Given the description of an element on the screen output the (x, y) to click on. 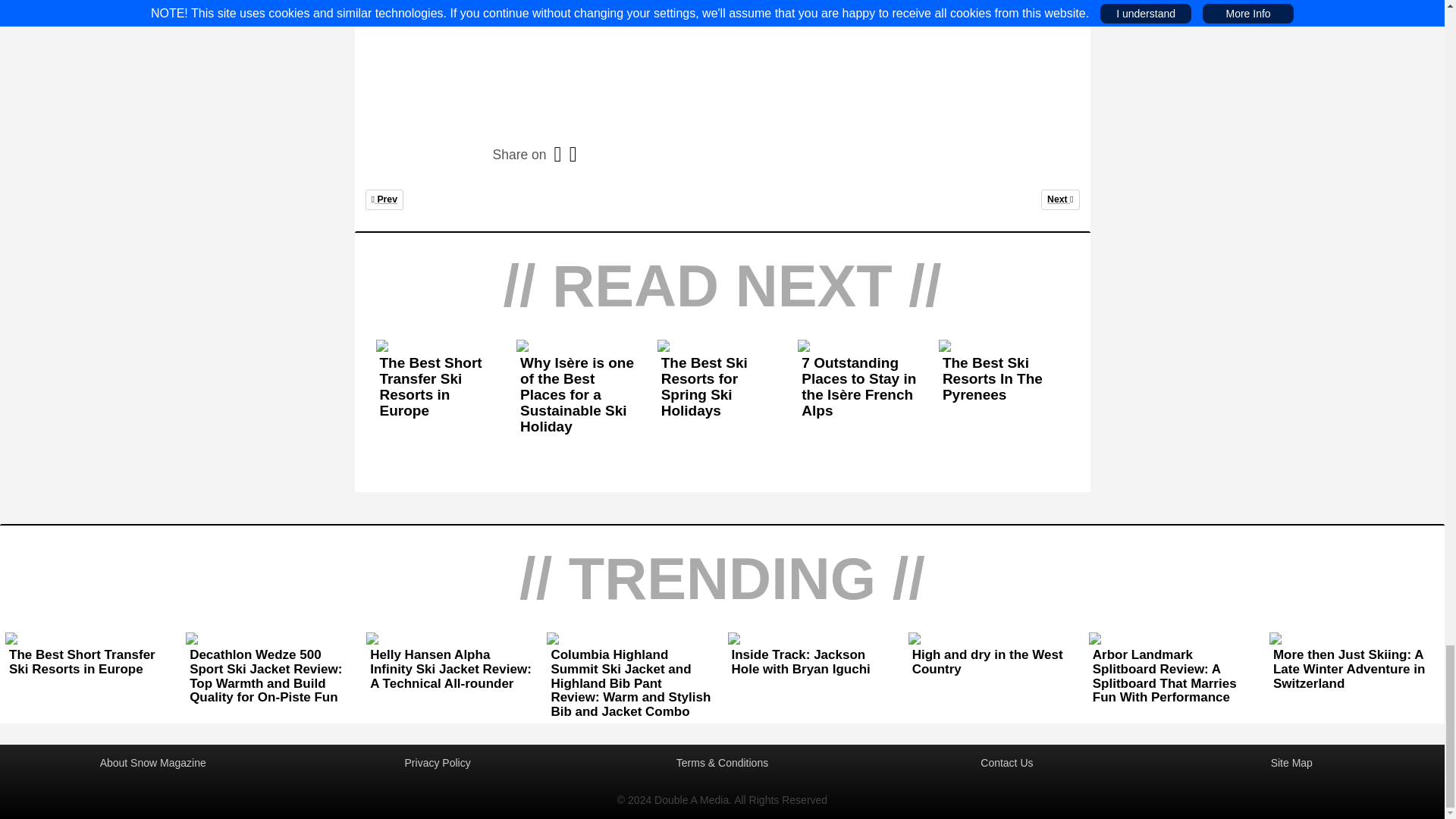
The Best Short Transfer Ski Resorts in Europe (440, 387)
The Best Ski Resorts for Spring Ski Holidays (722, 387)
